Given the description of an element on the screen output the (x, y) to click on. 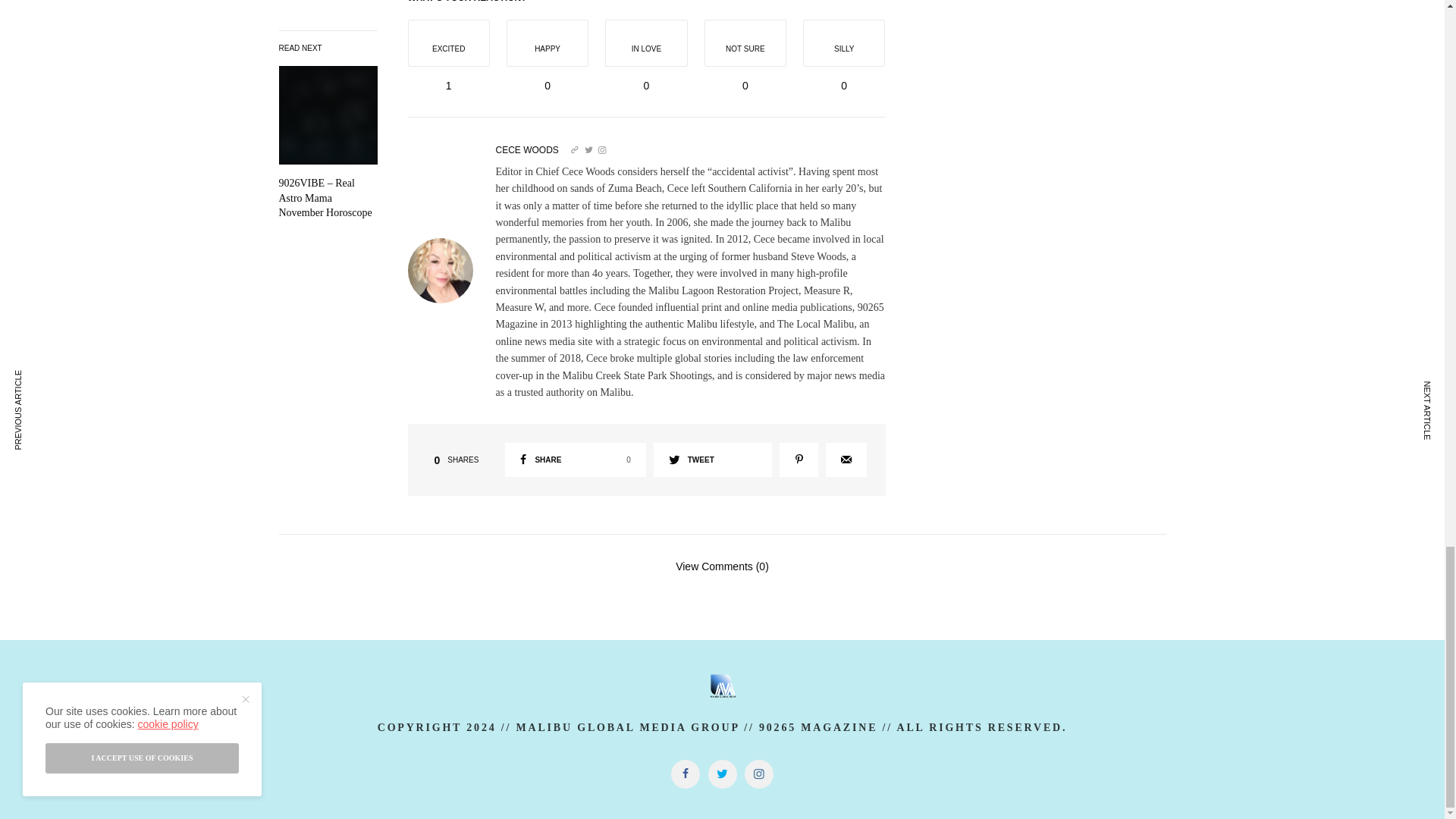
Malibu 90265 Magazine (721, 685)
CECE WOODS (527, 149)
